Given the description of an element on the screen output the (x, y) to click on. 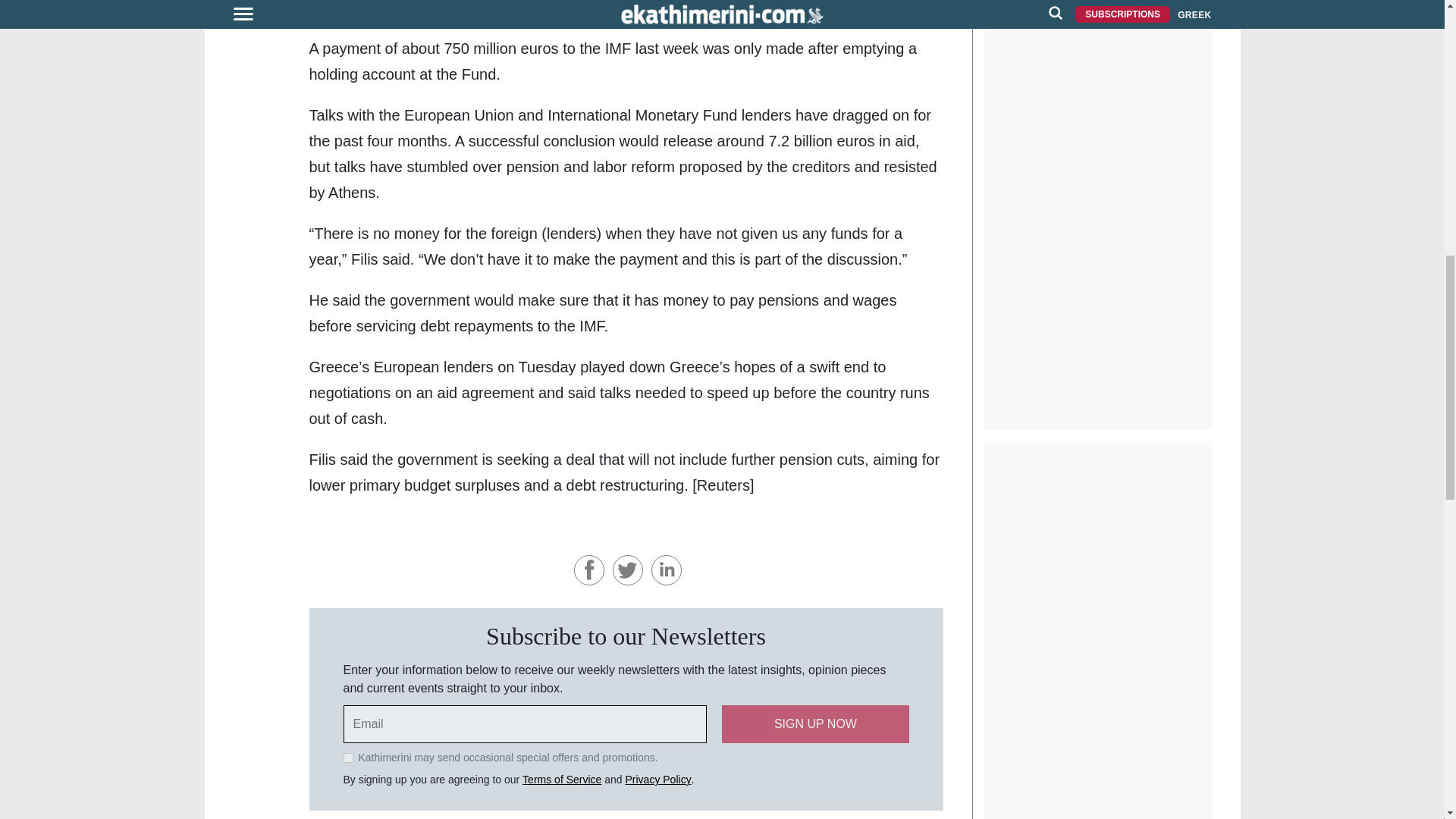
on (347, 757)
